Given the description of an element on the screen output the (x, y) to click on. 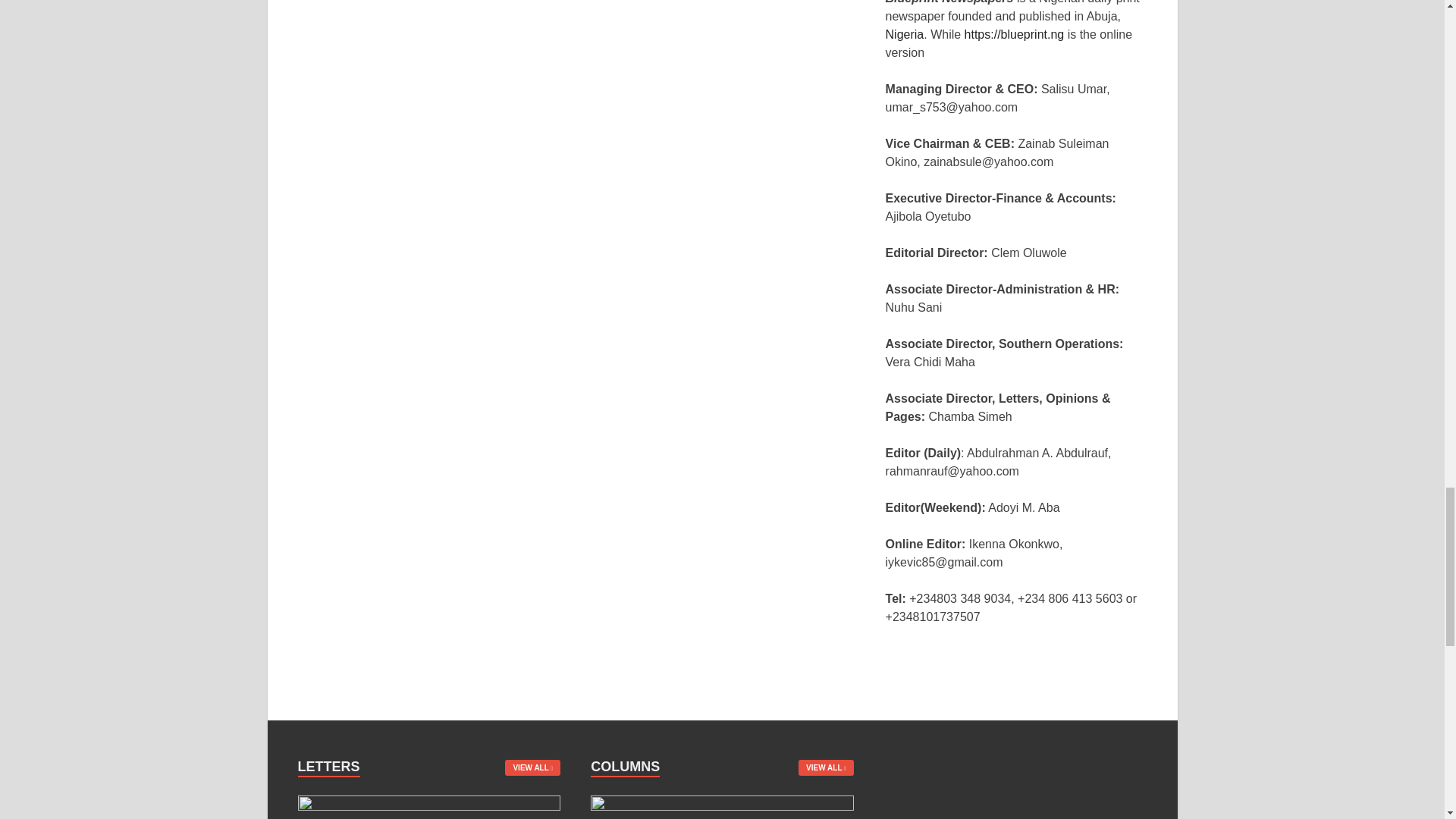
Need for collaboration with FCT water board (428, 803)
Nigeria (904, 33)
